Given the description of an element on the screen output the (x, y) to click on. 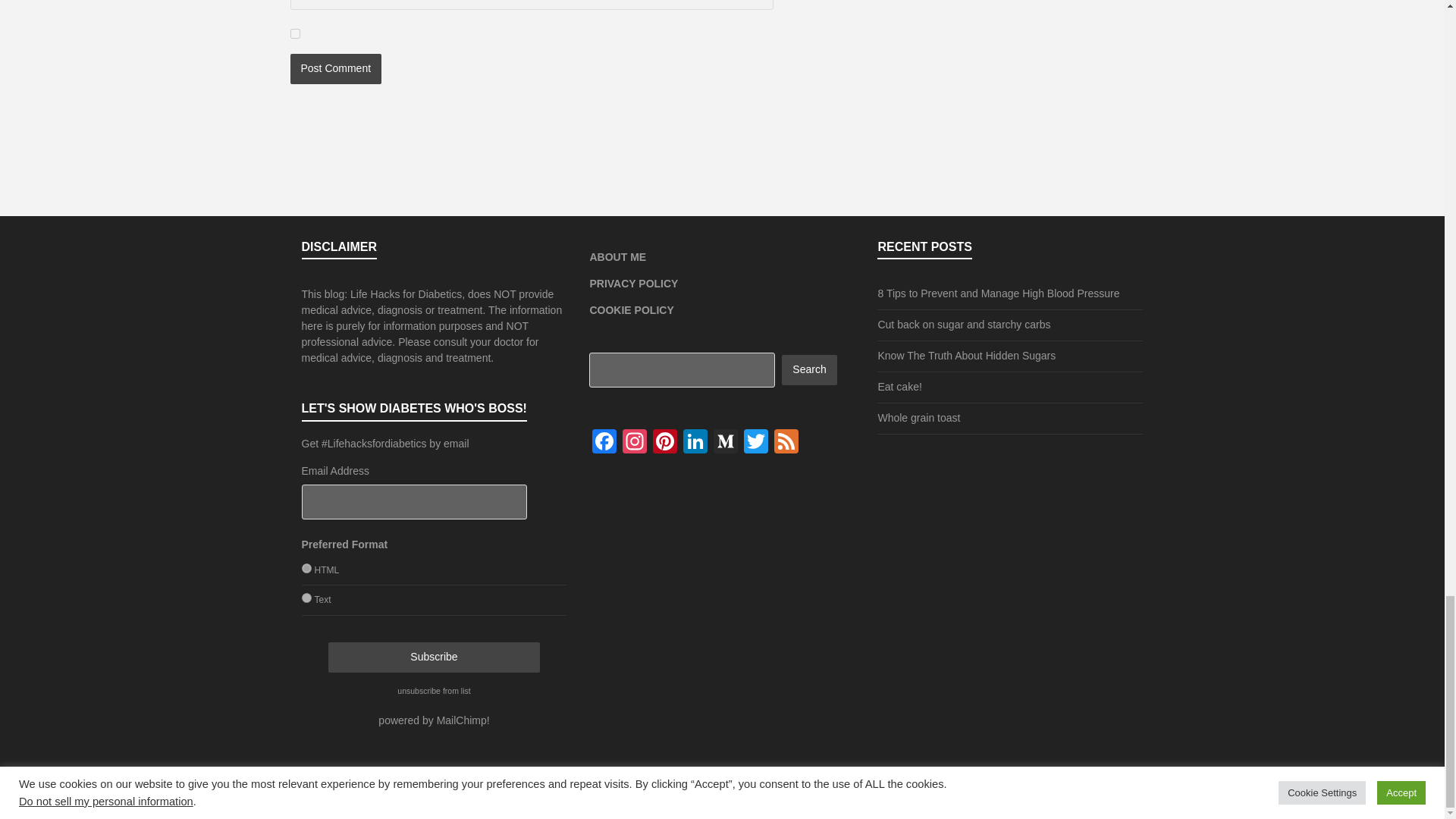
Search (808, 369)
yes (294, 33)
Post Comment (335, 69)
Post Comment (335, 69)
Subscribe (433, 657)
text (306, 597)
html (306, 568)
